Given the description of an element on the screen output the (x, y) to click on. 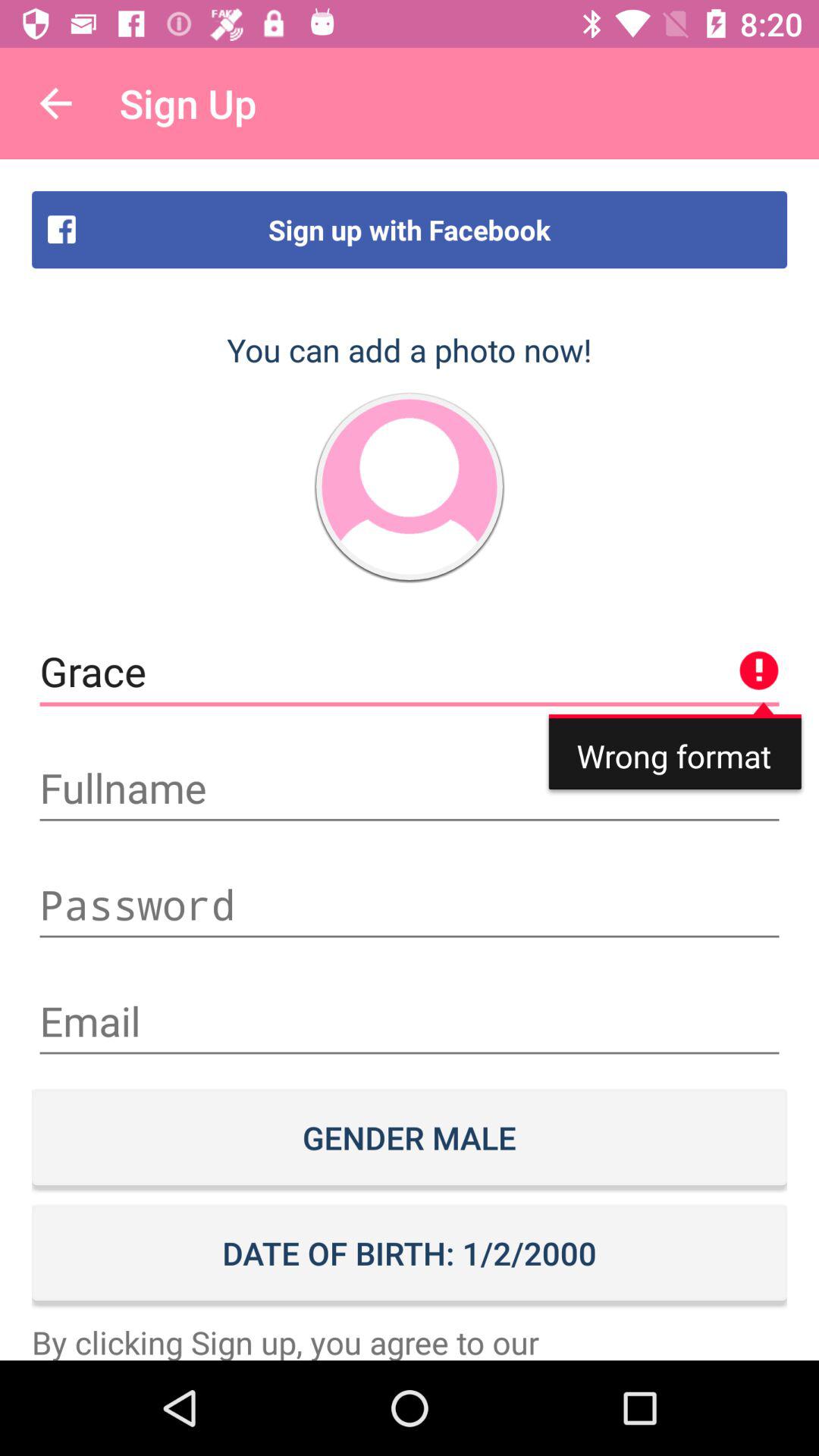
text box (409, 1021)
